Given the description of an element on the screen output the (x, y) to click on. 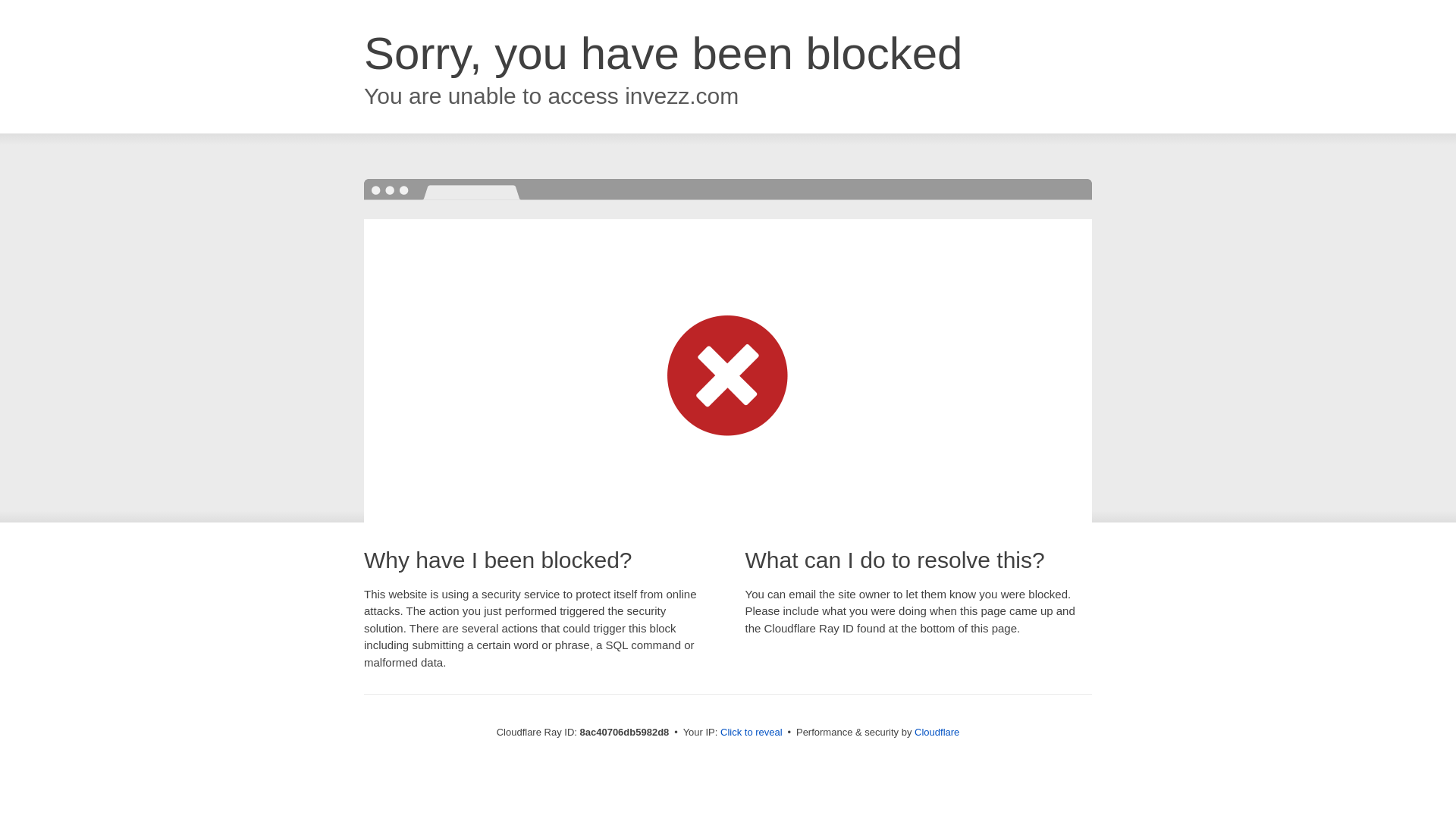
Cloudflare (936, 731)
Click to reveal (751, 732)
